Given the description of an element on the screen output the (x, y) to click on. 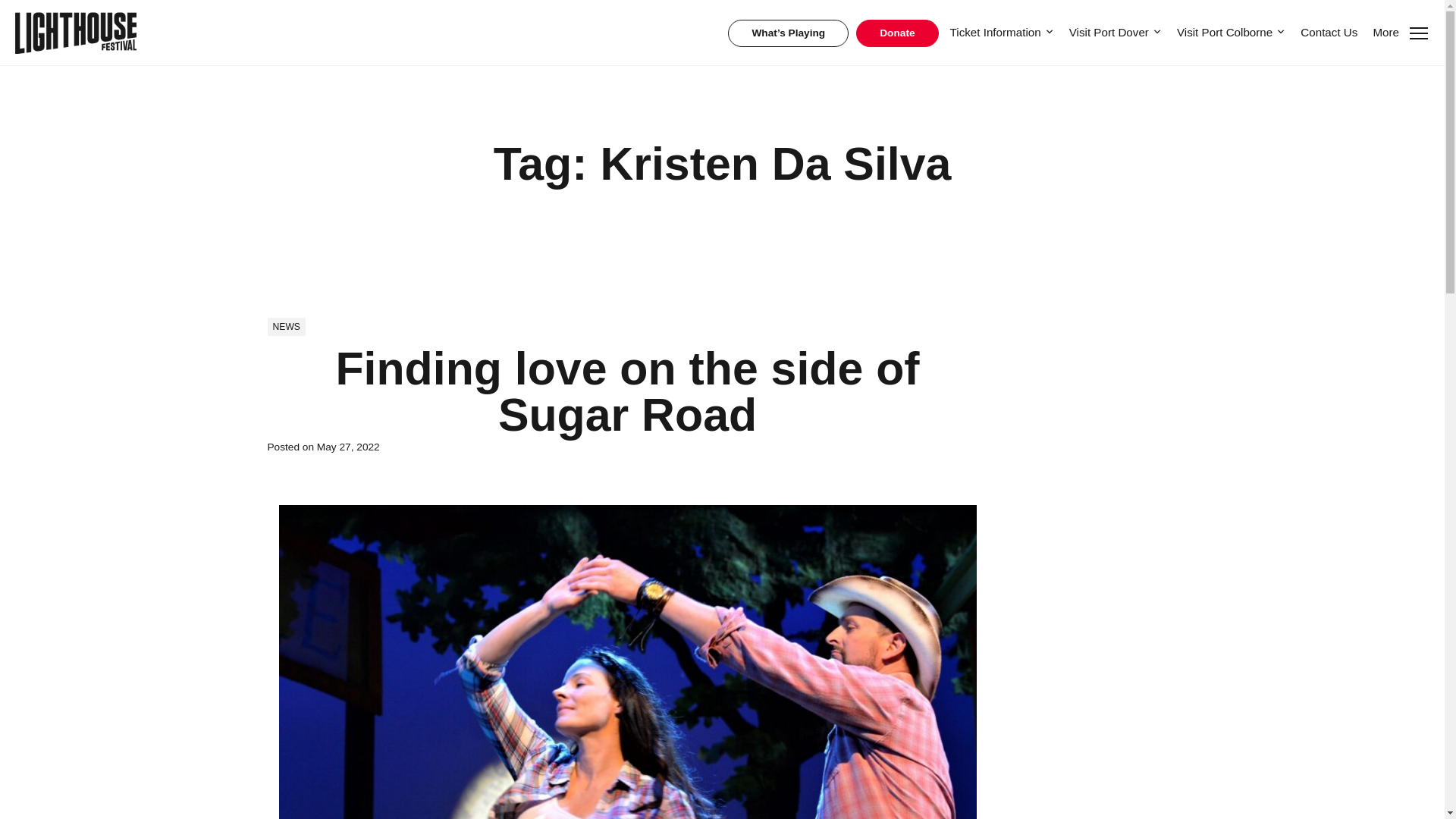
Lighthouse Festival (75, 32)
Ticket Information (1001, 31)
More (1401, 32)
Visit Port Dover (1115, 31)
Donate (896, 32)
Visit Port Colborne (1230, 31)
Contact Us (1328, 31)
